Given the description of an element on the screen output the (x, y) to click on. 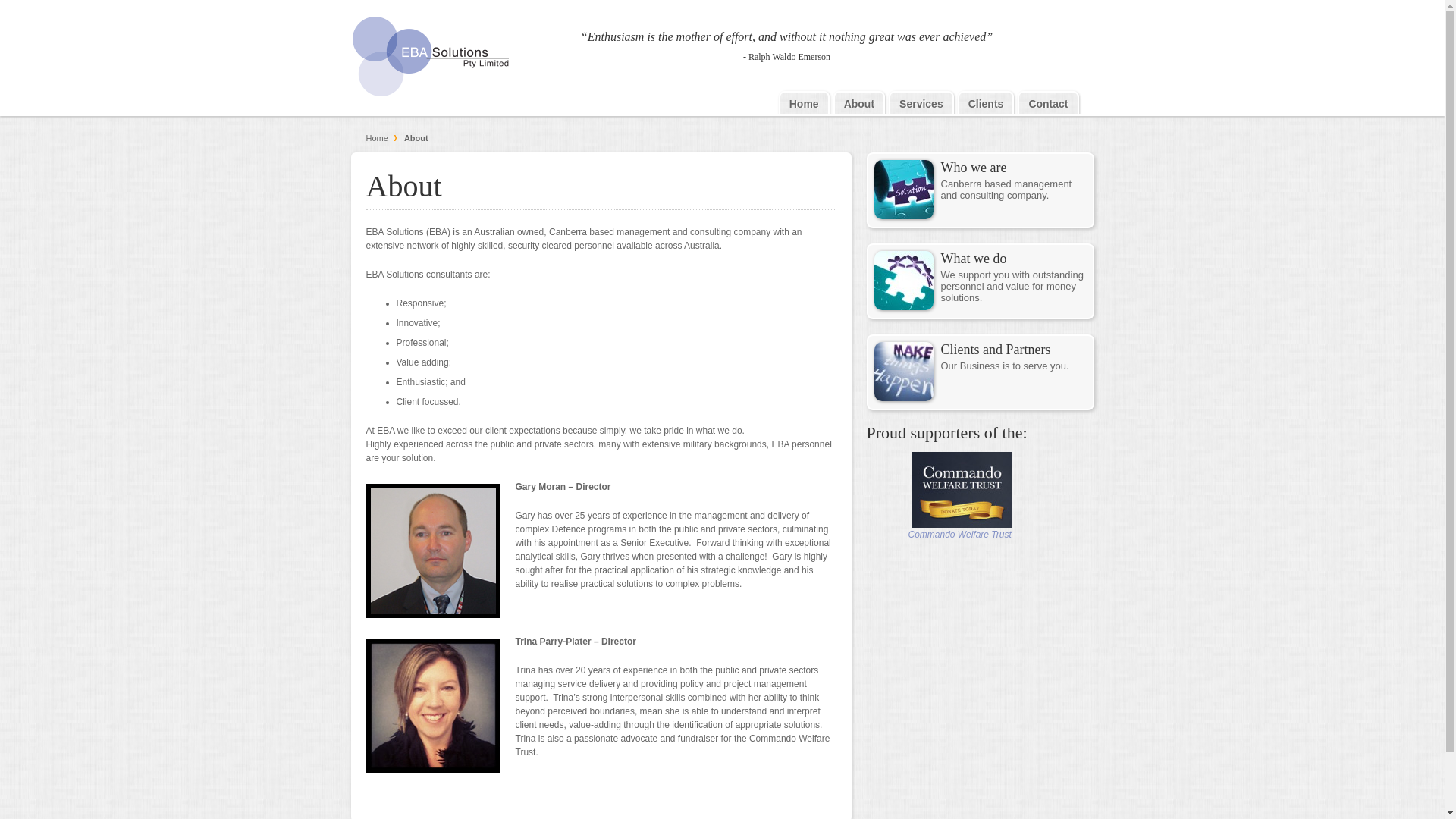
About Element type: text (858, 103)
Clients Element type: text (985, 103)
Commando Welfare Trust website Element type: hover (961, 524)
Who we are
Canberra based management and consulting company. Element type: text (979, 189)
Clients and Partners
Our Business is to serve you. Element type: text (979, 371)
Contact Element type: text (1047, 103)
Home Element type: text (380, 137)
Commando Welfare Trust Element type: text (959, 534)
Home Element type: text (803, 103)
Services Element type: text (920, 103)
